Given the description of an element on the screen output the (x, y) to click on. 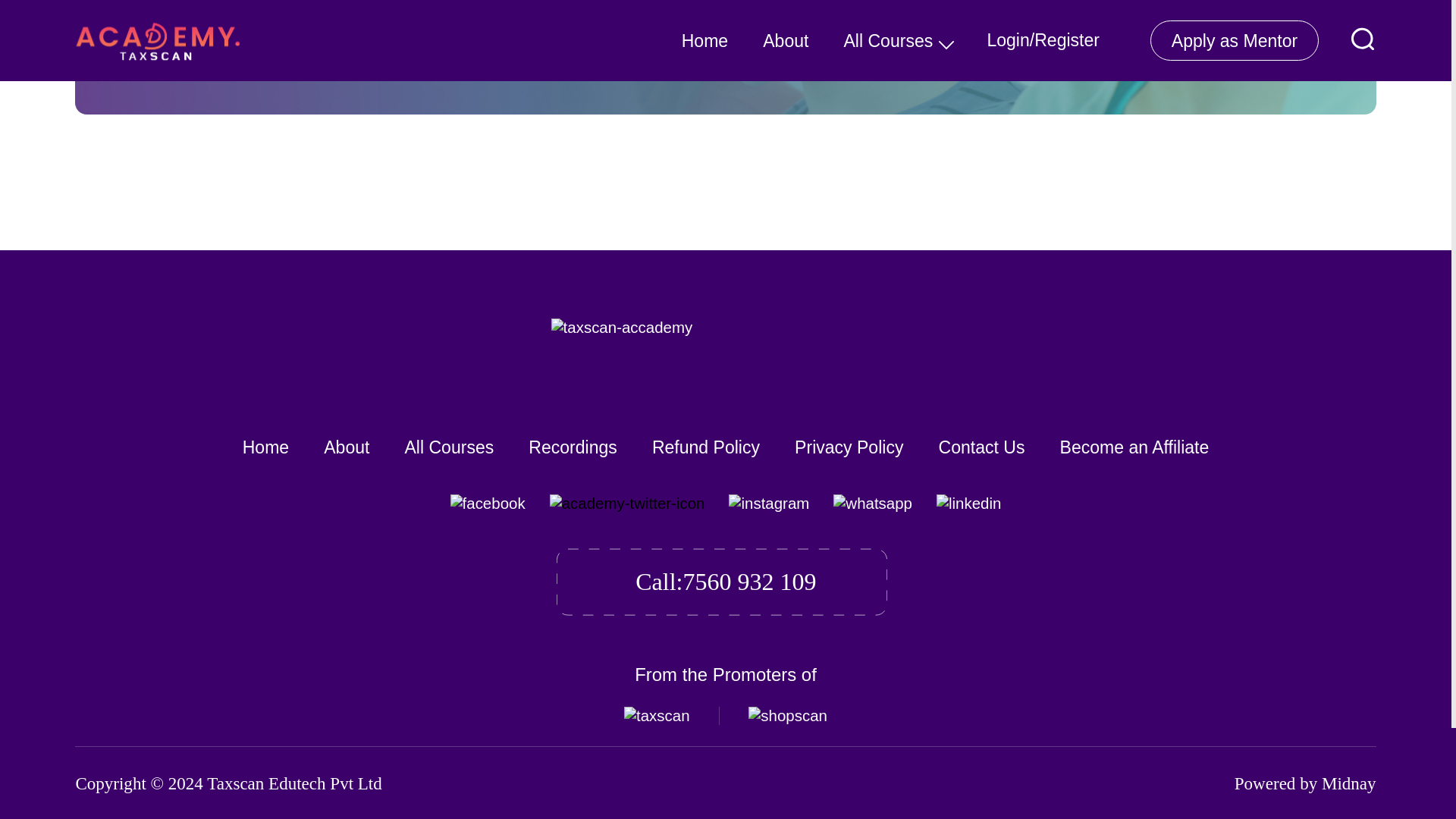
Refund Policy (706, 447)
About (346, 447)
Privacy Policy (848, 447)
Become an Affiliate (1134, 447)
All Courses (448, 447)
Recordings (572, 447)
Contact Us (982, 447)
Register Here (268, 42)
Home (265, 447)
